Given the description of an element on the screen output the (x, y) to click on. 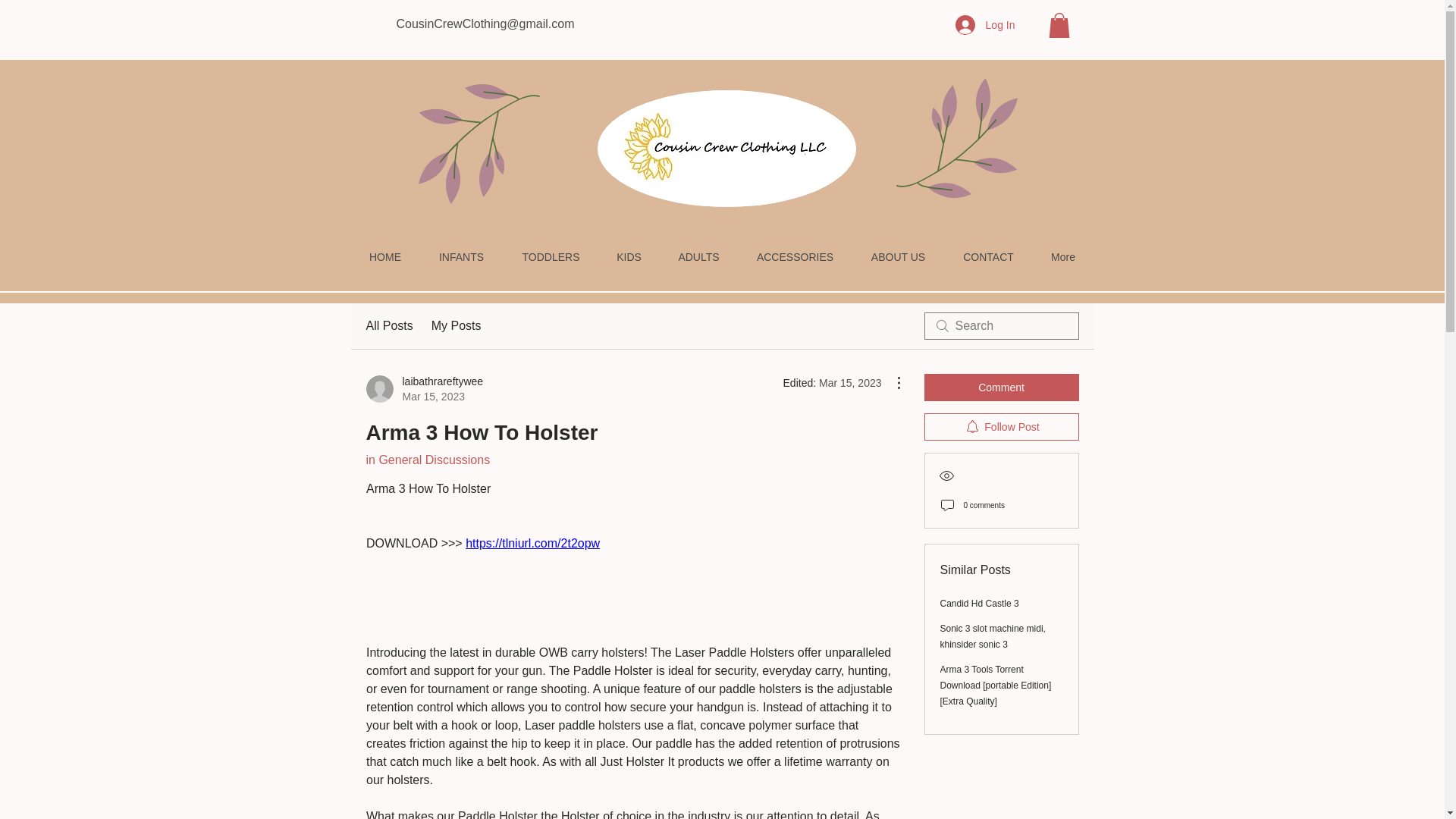
Log In (985, 24)
INFANTS (461, 257)
Candid Hd Castle 3 (979, 603)
KIDS (628, 257)
in General Discussions (427, 459)
My Posts (455, 325)
ACCESSORIES (424, 388)
TODDLERS (794, 257)
ABOUT US (550, 257)
Follow Post (897, 257)
ADULTS (1000, 426)
All Posts (698, 257)
CONTACT (388, 325)
Comment (988, 257)
